Given the description of an element on the screen output the (x, y) to click on. 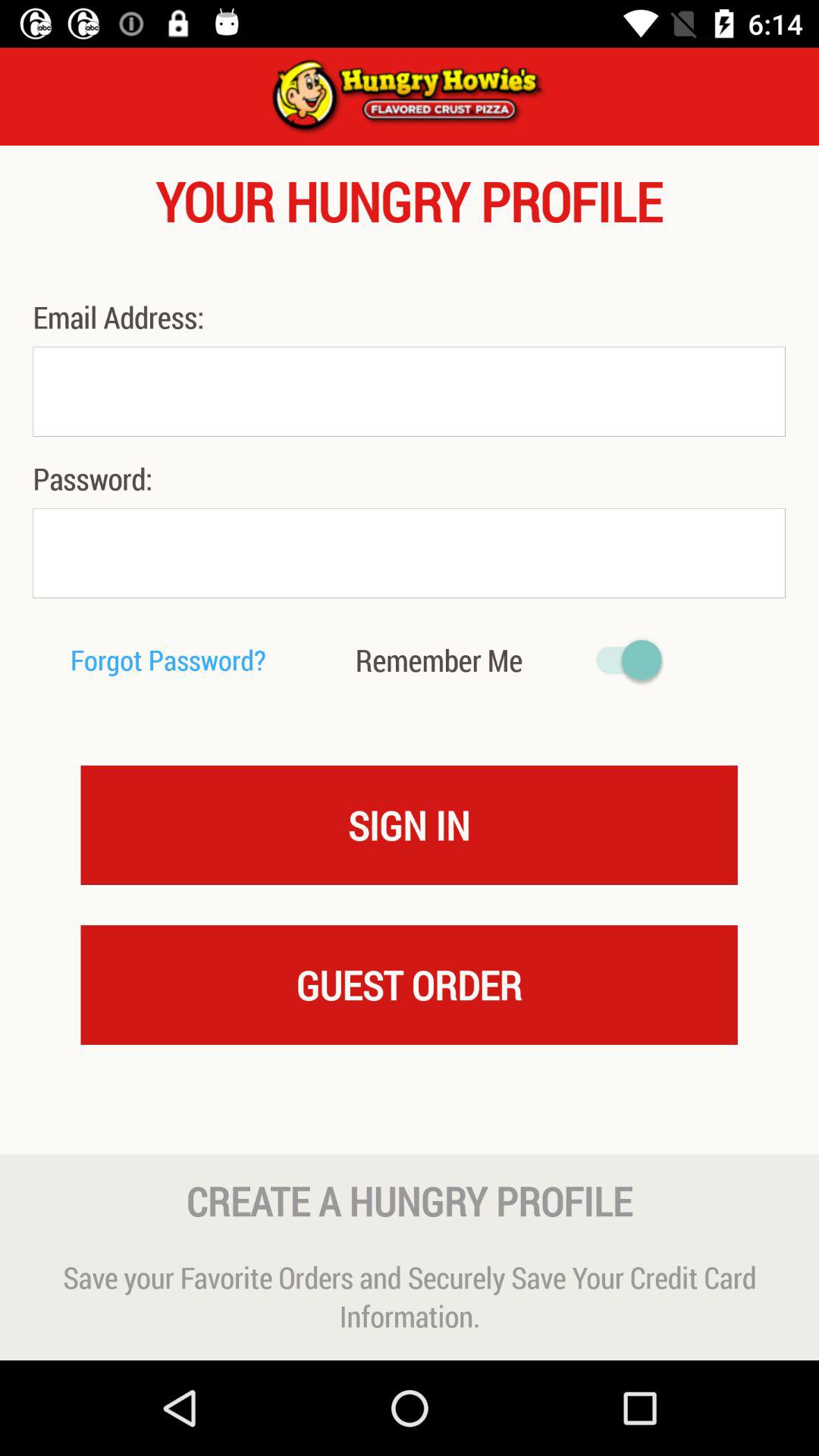
swipe to the sign in icon (409, 824)
